Given the description of an element on the screen output the (x, y) to click on. 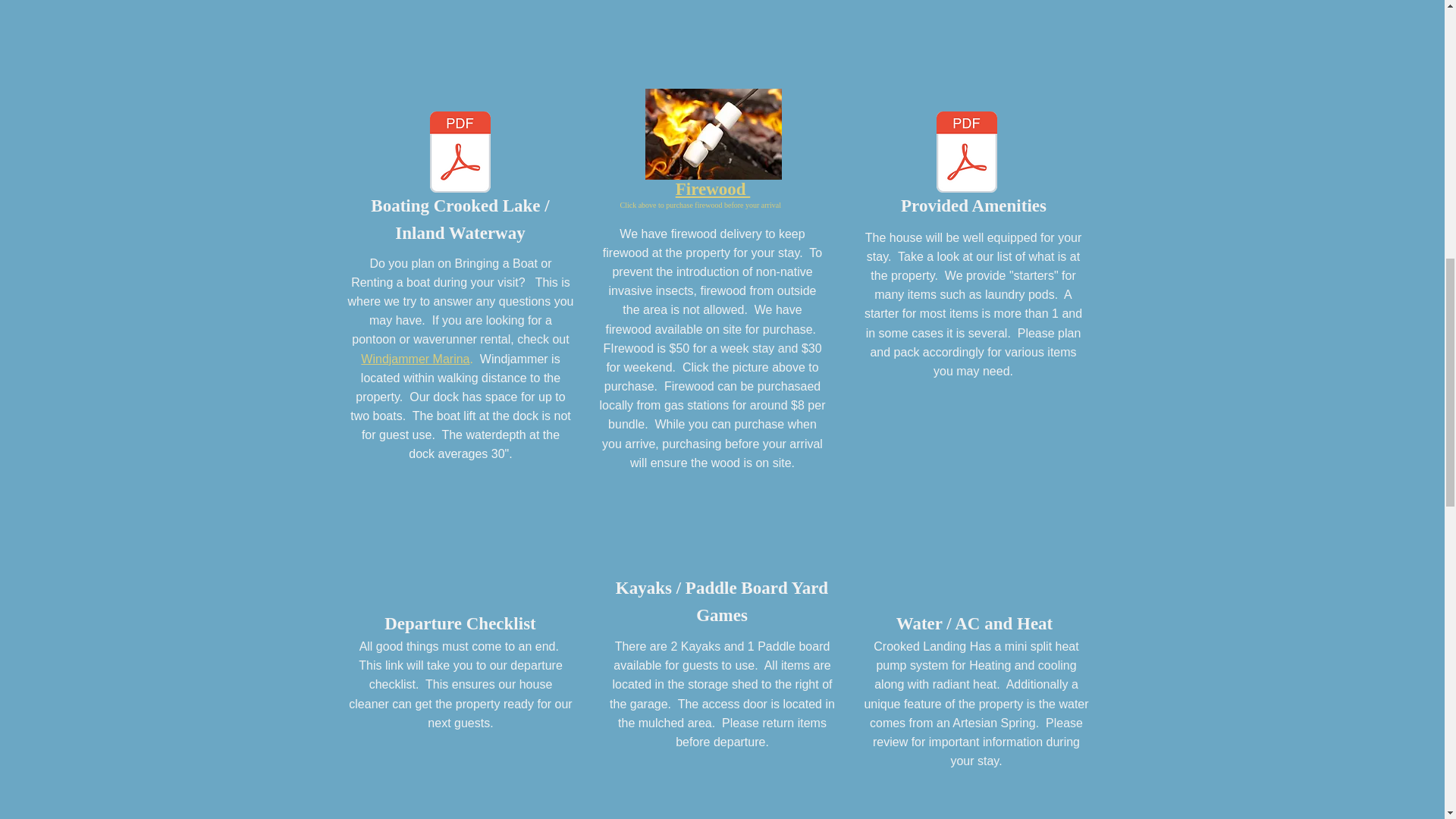
Firewood  (713, 188)
Windjammer Marina (414, 358)
